Given the description of an element on the screen output the (x, y) to click on. 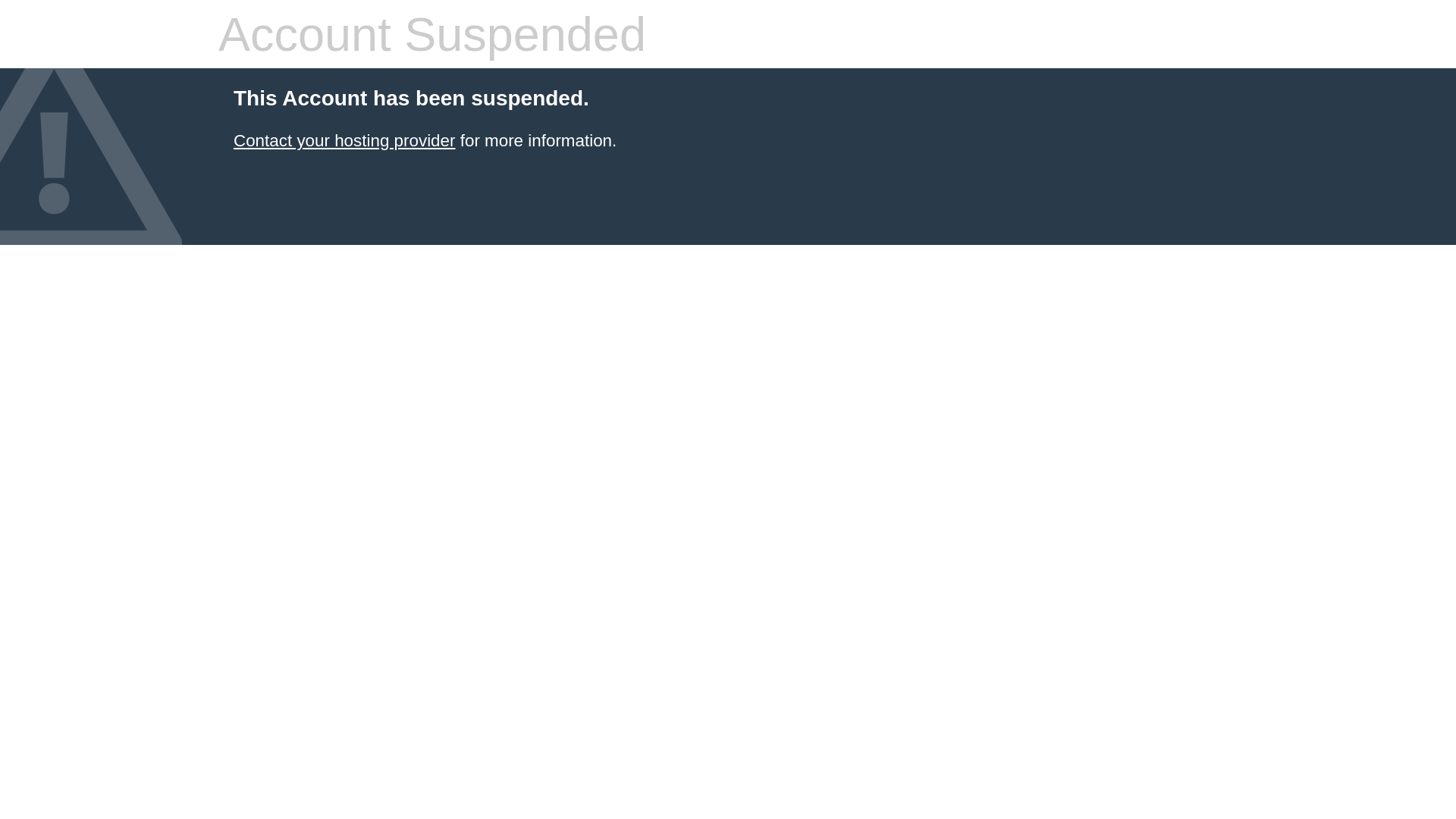
Contact your hosting provider Element type: text (344, 140)
